Given the description of an element on the screen output the (x, y) to click on. 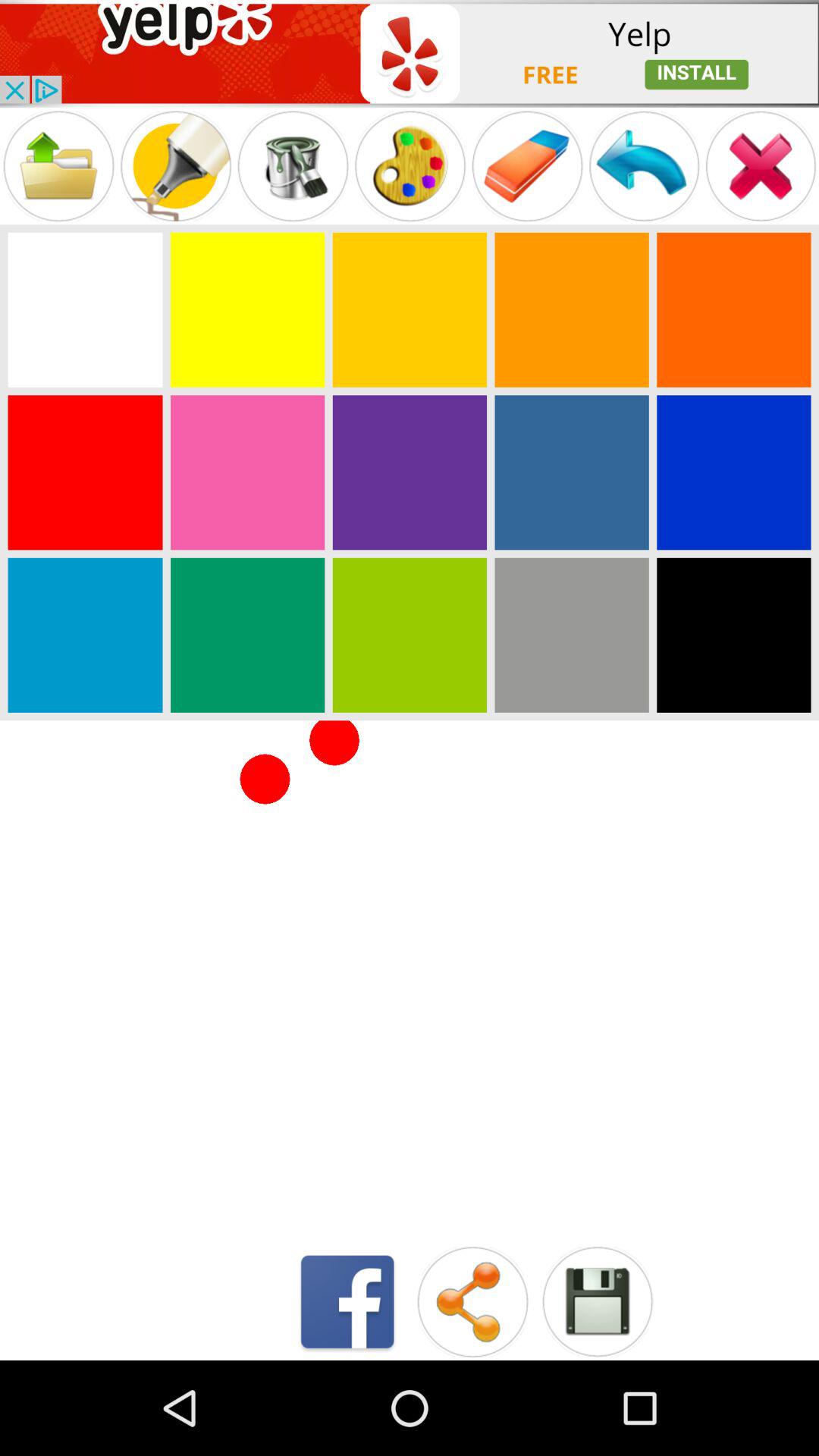
menu (526, 165)
